Given the description of an element on the screen output the (x, y) to click on. 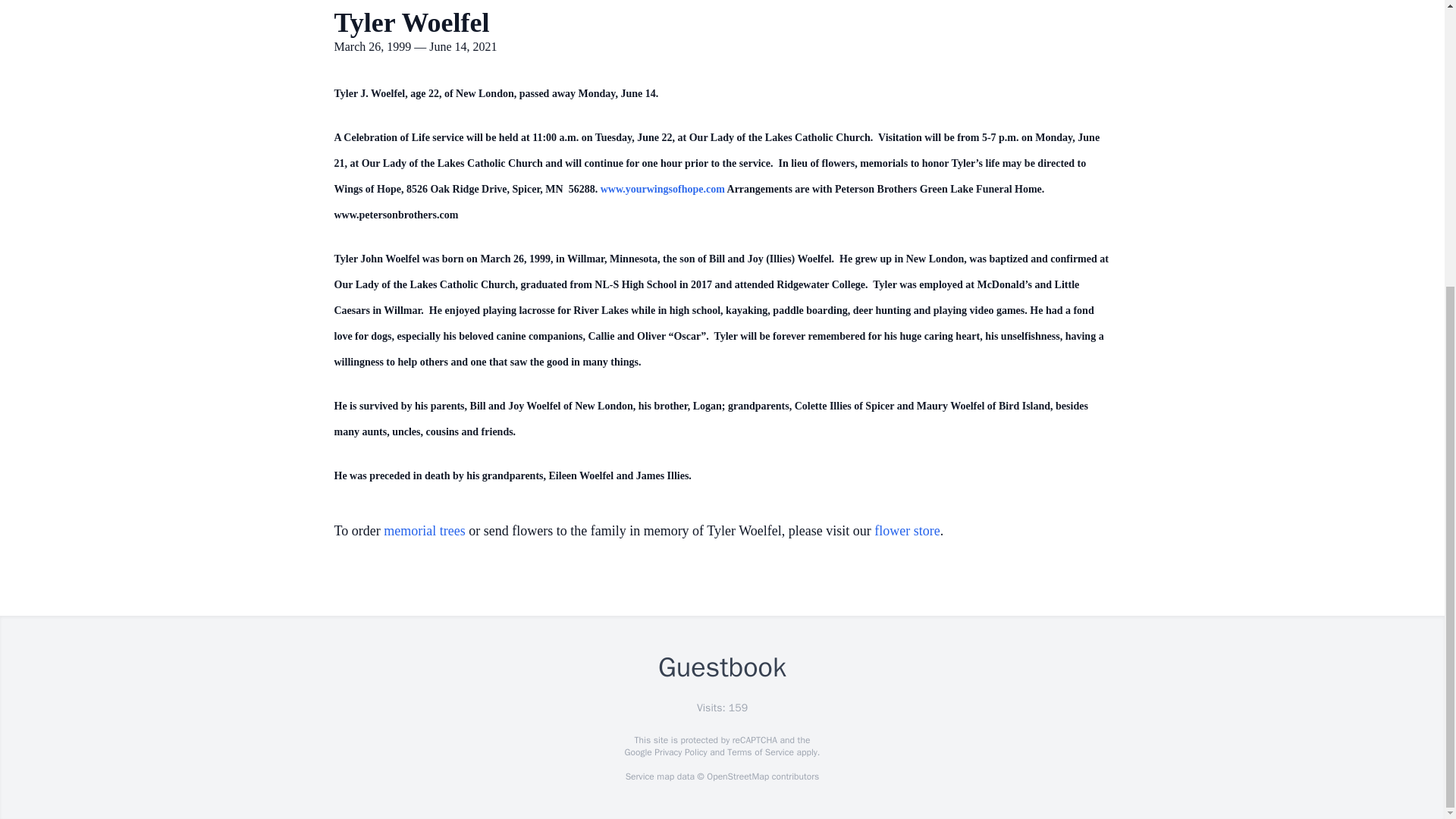
flower store (907, 530)
Terms of Service (759, 752)
www.yourwingsofhope.com (662, 188)
Privacy Policy (679, 752)
OpenStreetMap (737, 776)
memorial trees (424, 530)
